Given the description of an element on the screen output the (x, y) to click on. 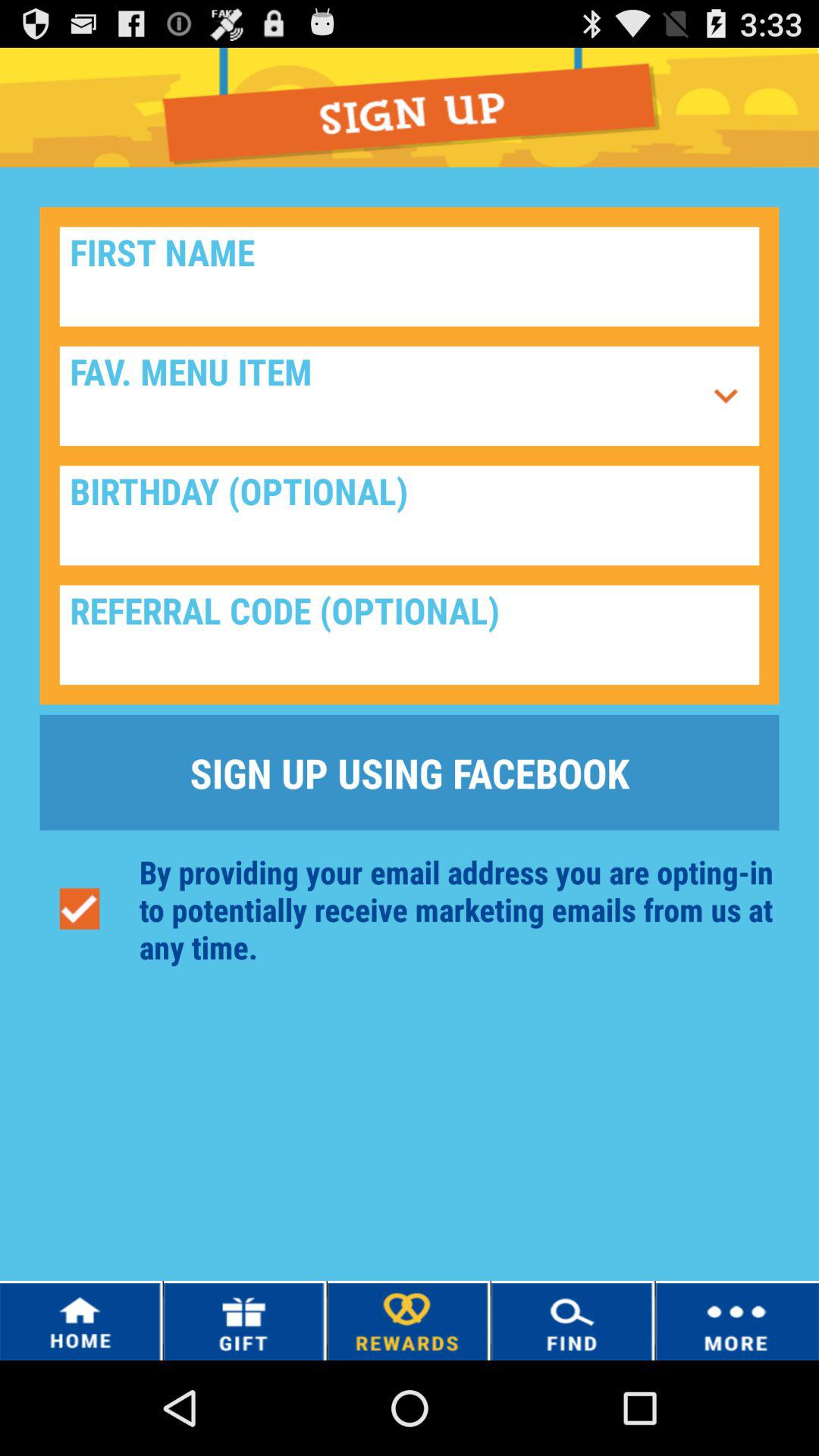
click the box (409, 634)
